Given the description of an element on the screen output the (x, y) to click on. 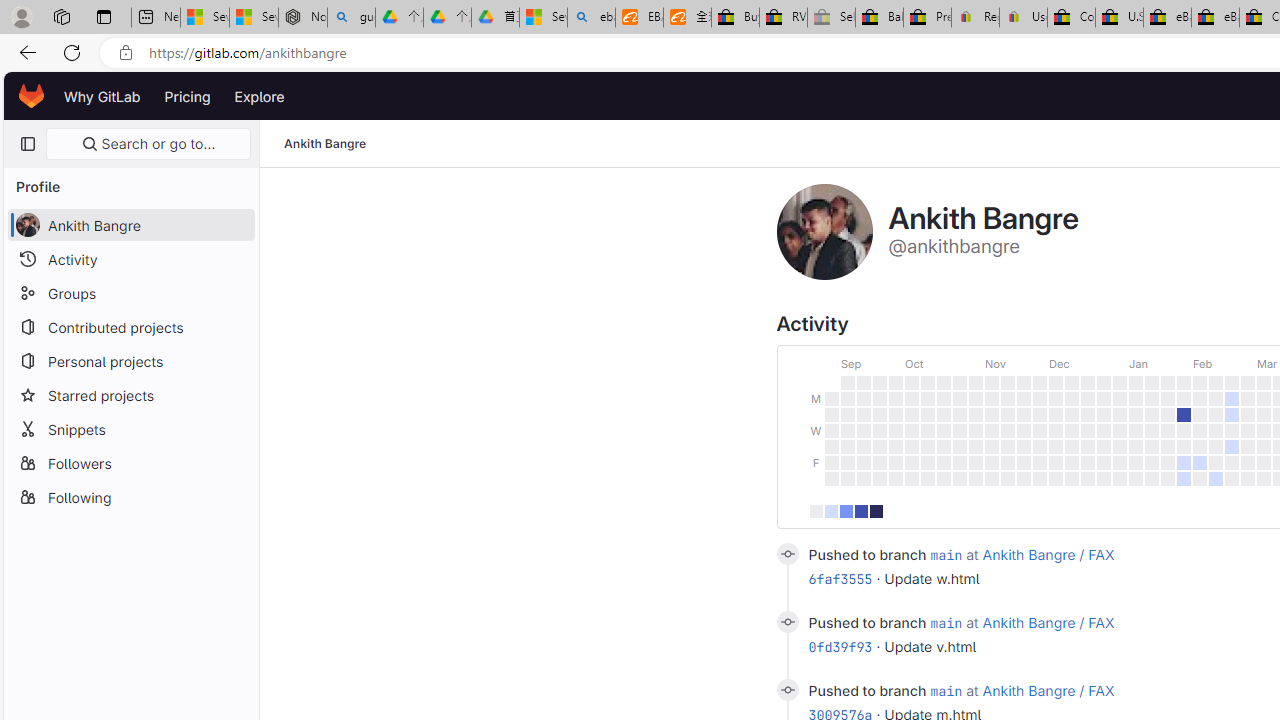
avatar Ankith Bangre (130, 224)
Starred projects (130, 394)
Groups (130, 292)
Ankith Bangre (325, 143)
Explore (259, 95)
Why GitLab (102, 95)
guge yunpan - Search (351, 17)
